Given the description of an element on the screen output the (x, y) to click on. 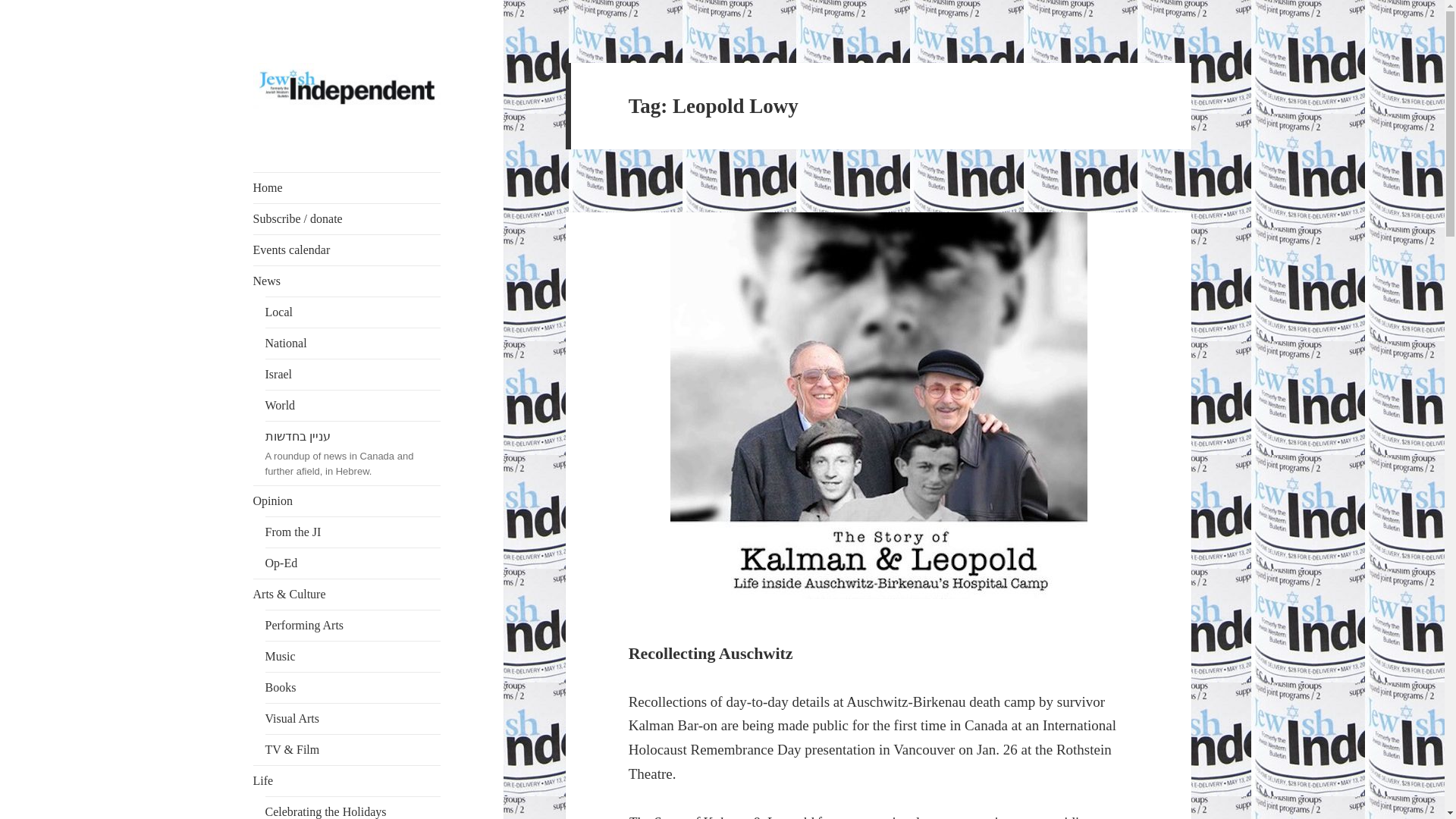
Celebrating the Holidays (352, 807)
Performing Arts (352, 625)
Opinion (347, 501)
News (347, 281)
Books (352, 687)
National (352, 343)
World (352, 405)
Home (347, 187)
Visual Arts (352, 718)
Events calendar (347, 250)
Life (347, 780)
From the JI (352, 531)
Israel (352, 374)
Music (352, 656)
Local (352, 312)
